Given the description of an element on the screen output the (x, y) to click on. 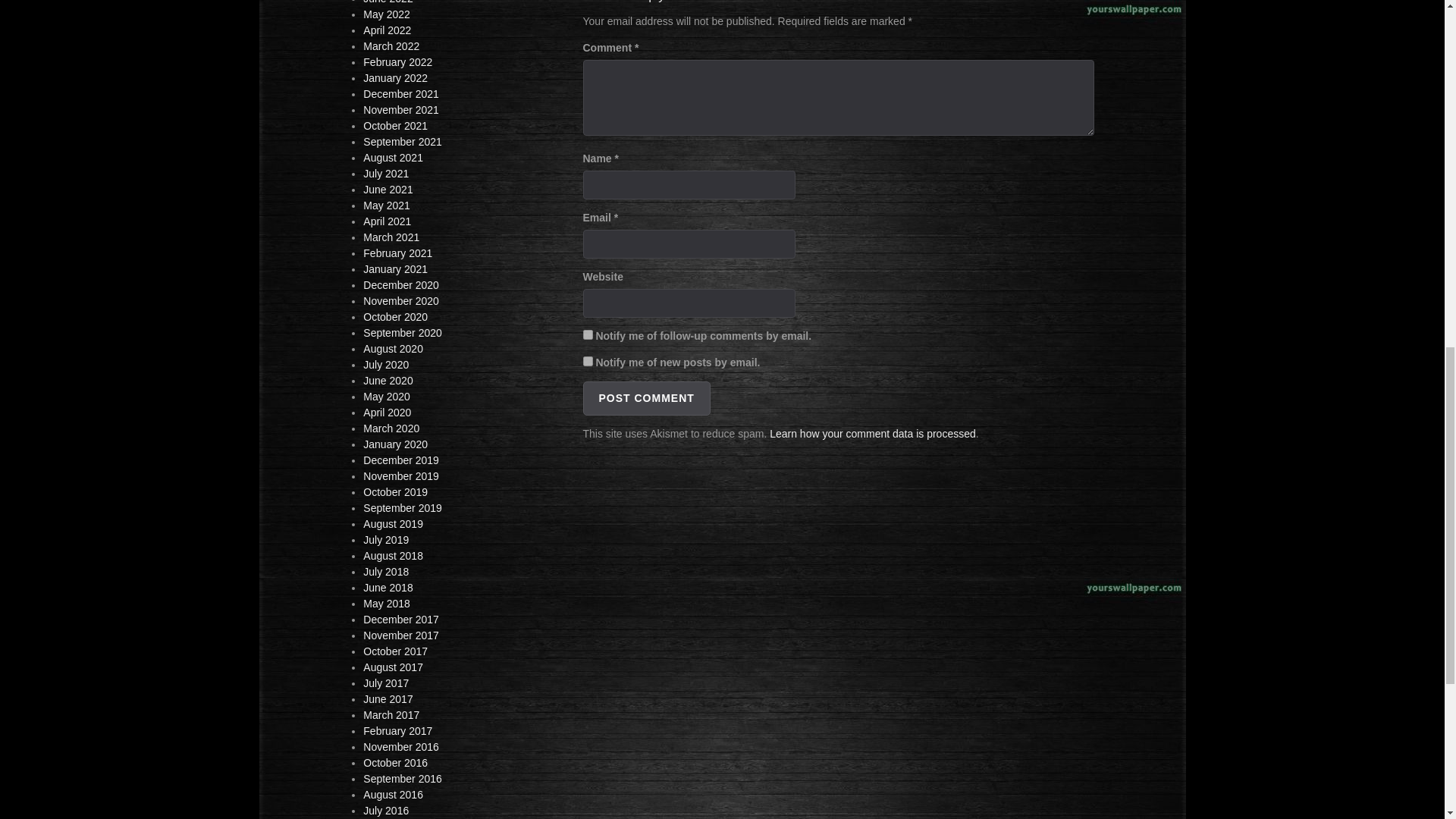
Post Comment (646, 398)
Learn how your comment data is processed (872, 433)
subscribe (587, 334)
Post Comment (646, 398)
subscribe (587, 361)
